Given the description of an element on the screen output the (x, y) to click on. 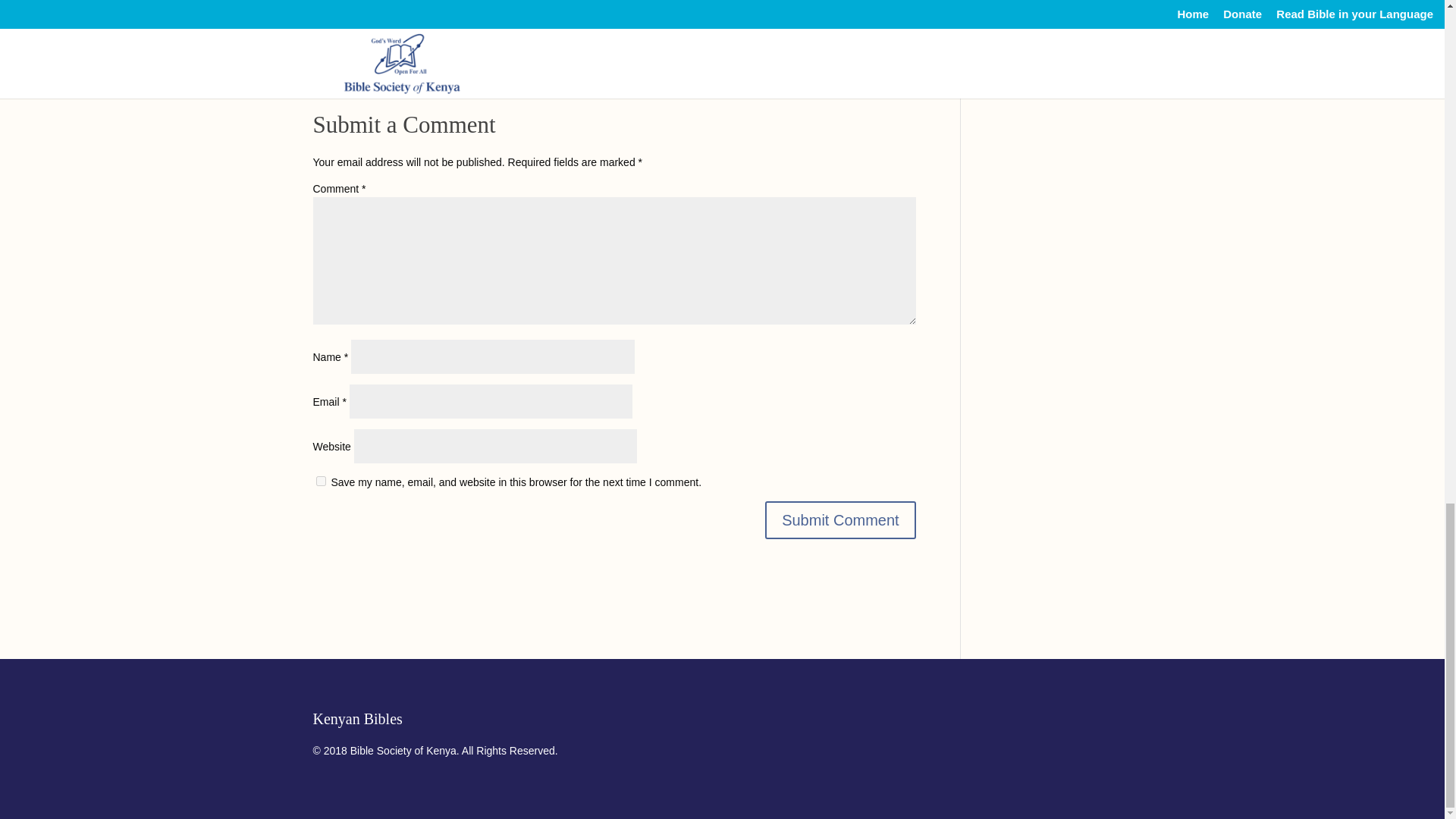
Submit Comment (840, 519)
yes (319, 480)
Submit Comment (840, 519)
